Given the description of an element on the screen output the (x, y) to click on. 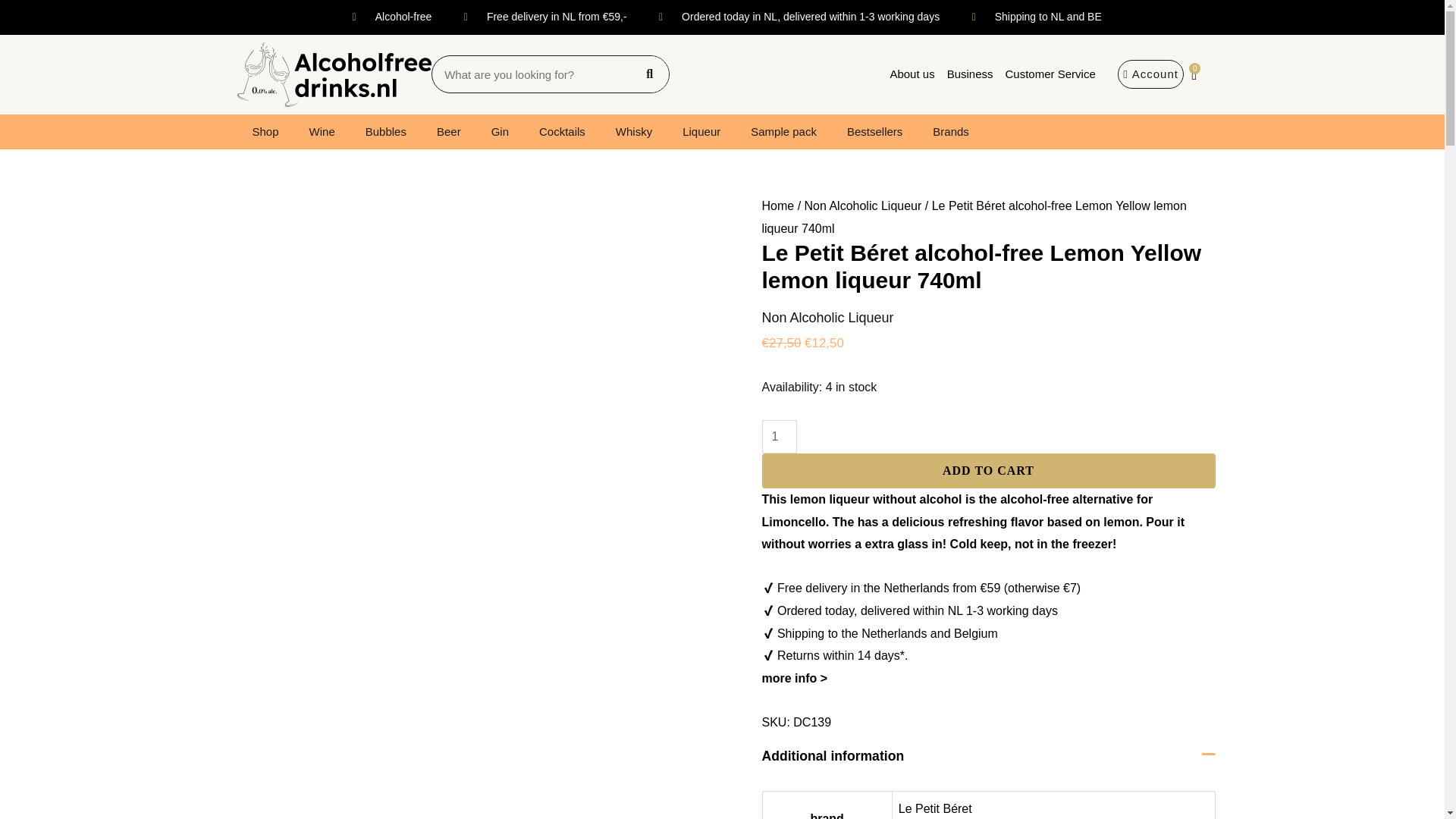
Shop (264, 131)
Cocktails (561, 131)
Wine (322, 131)
About us (911, 73)
Account (1150, 73)
Whisky (632, 131)
Bubbles (386, 131)
Gin (500, 131)
Business (969, 73)
SEARCH (649, 74)
